Given the description of an element on the screen output the (x, y) to click on. 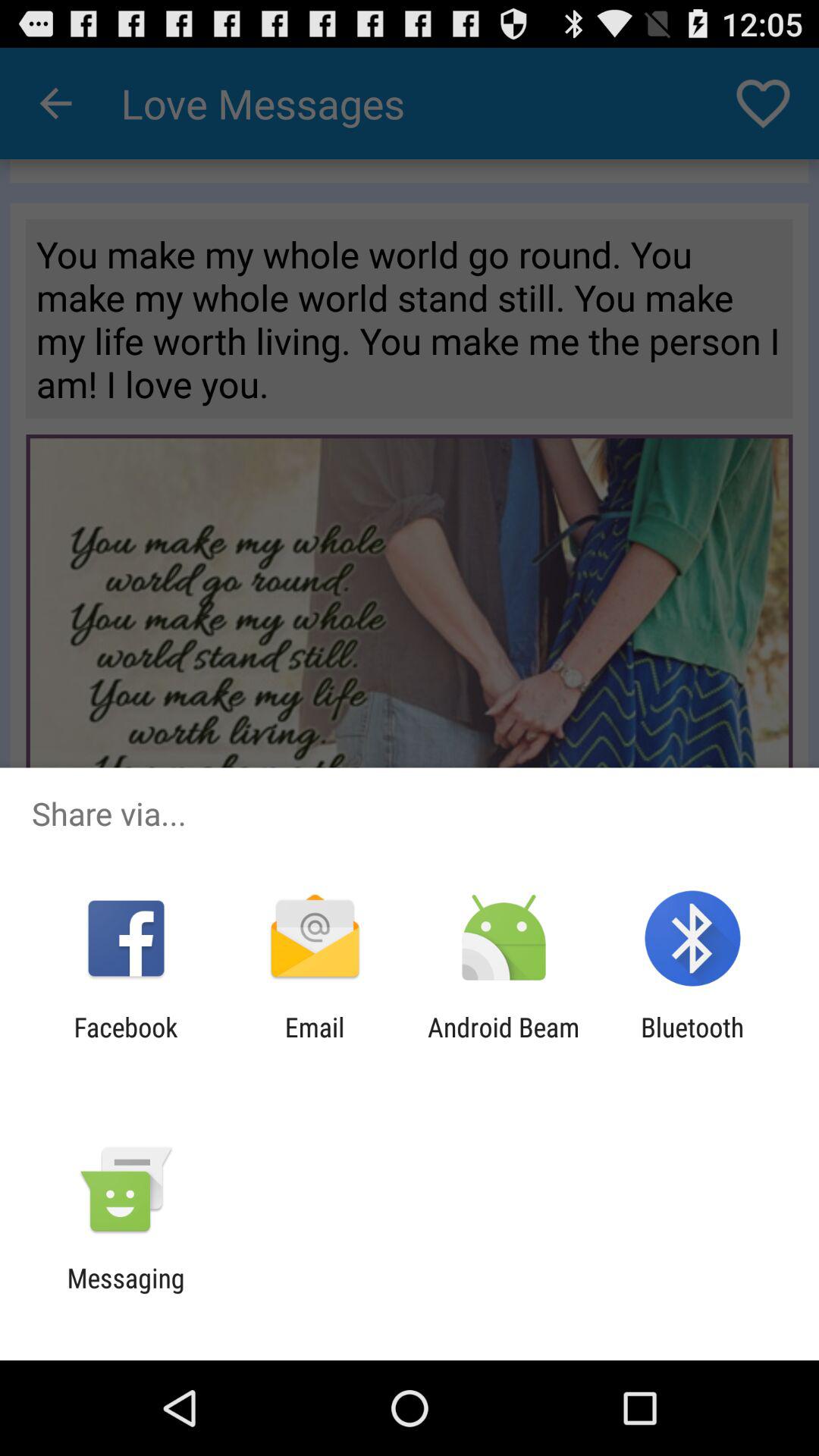
click item to the left of android beam icon (314, 1042)
